Given the description of an element on the screen output the (x, y) to click on. 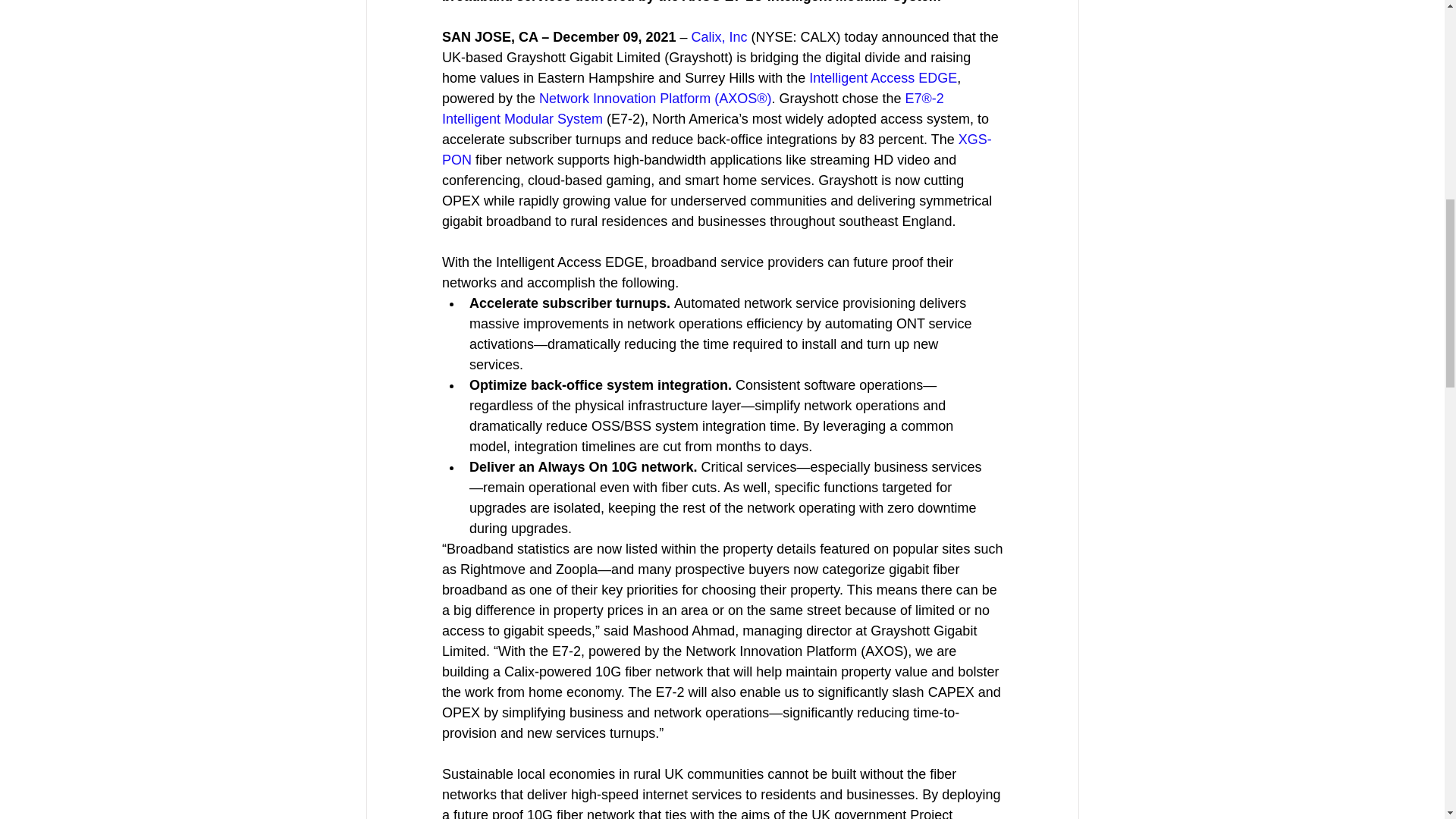
Calix, Inc (718, 37)
XGS-PON (716, 149)
Intelligent Access EDGE (882, 77)
